Given the description of an element on the screen output the (x, y) to click on. 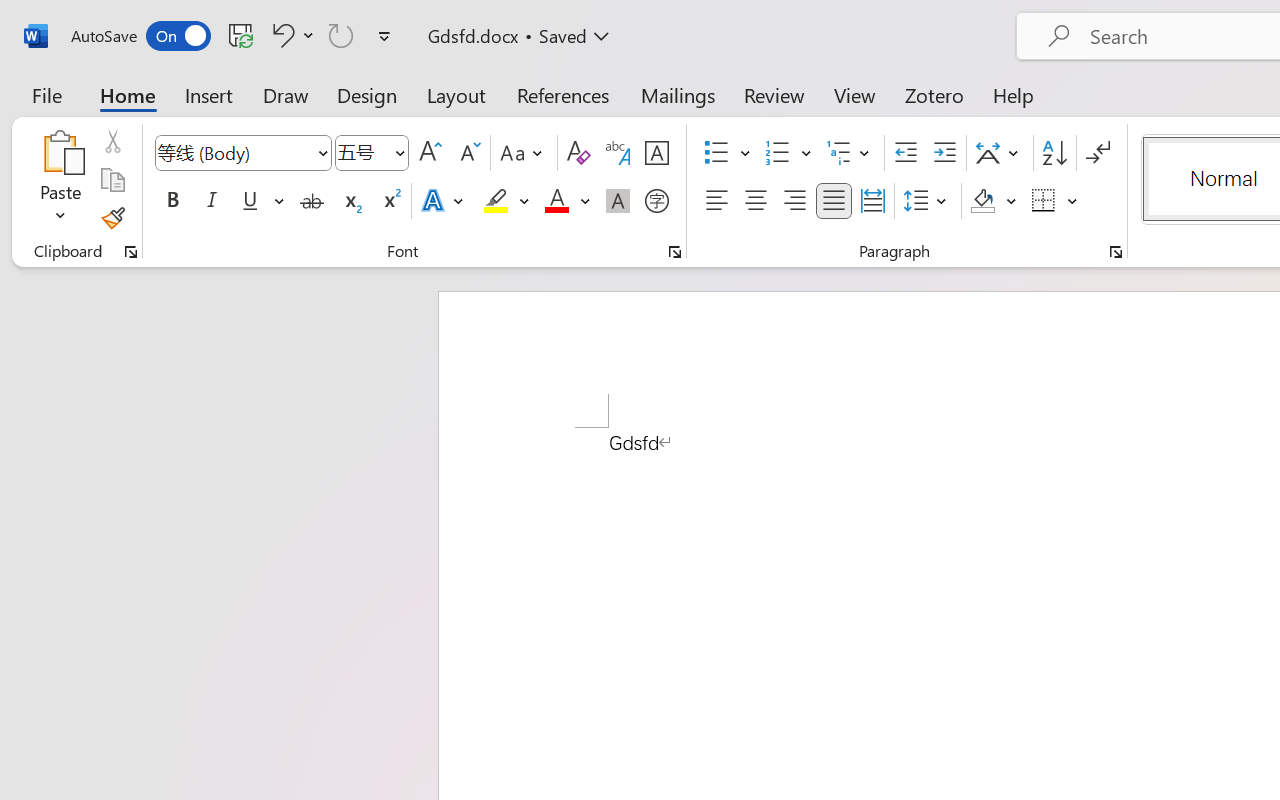
Undo AutoCorrect (290, 35)
Multilevel List (850, 153)
Enclose Characters... (656, 201)
Strikethrough (312, 201)
Format Painter (112, 218)
Sort... (1054, 153)
